Given the description of an element on the screen output the (x, y) to click on. 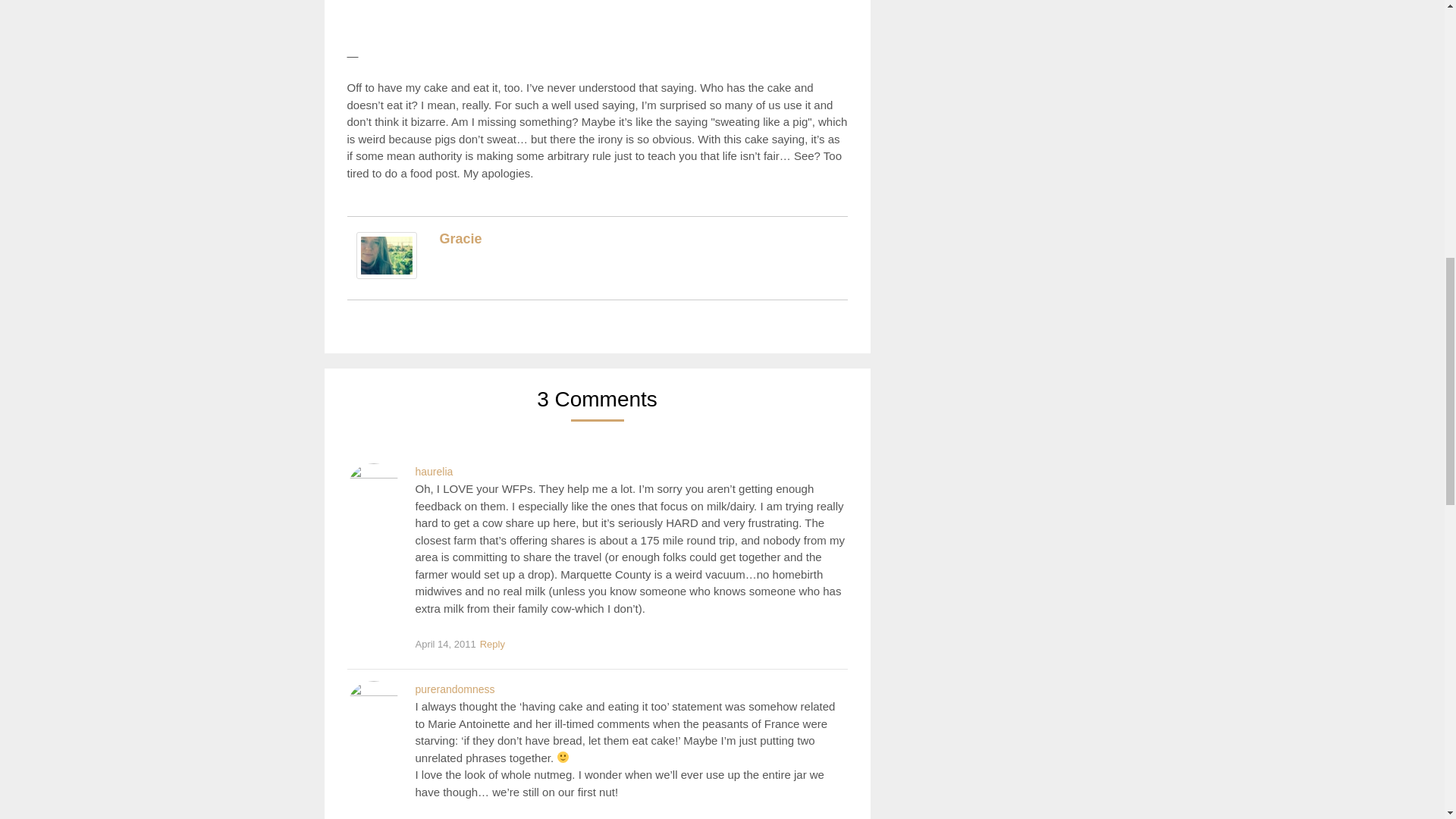
Gracie (460, 238)
Reply (492, 644)
Gracie (386, 274)
haurelia (433, 471)
purerandomness (454, 689)
